Given the description of an element on the screen output the (x, y) to click on. 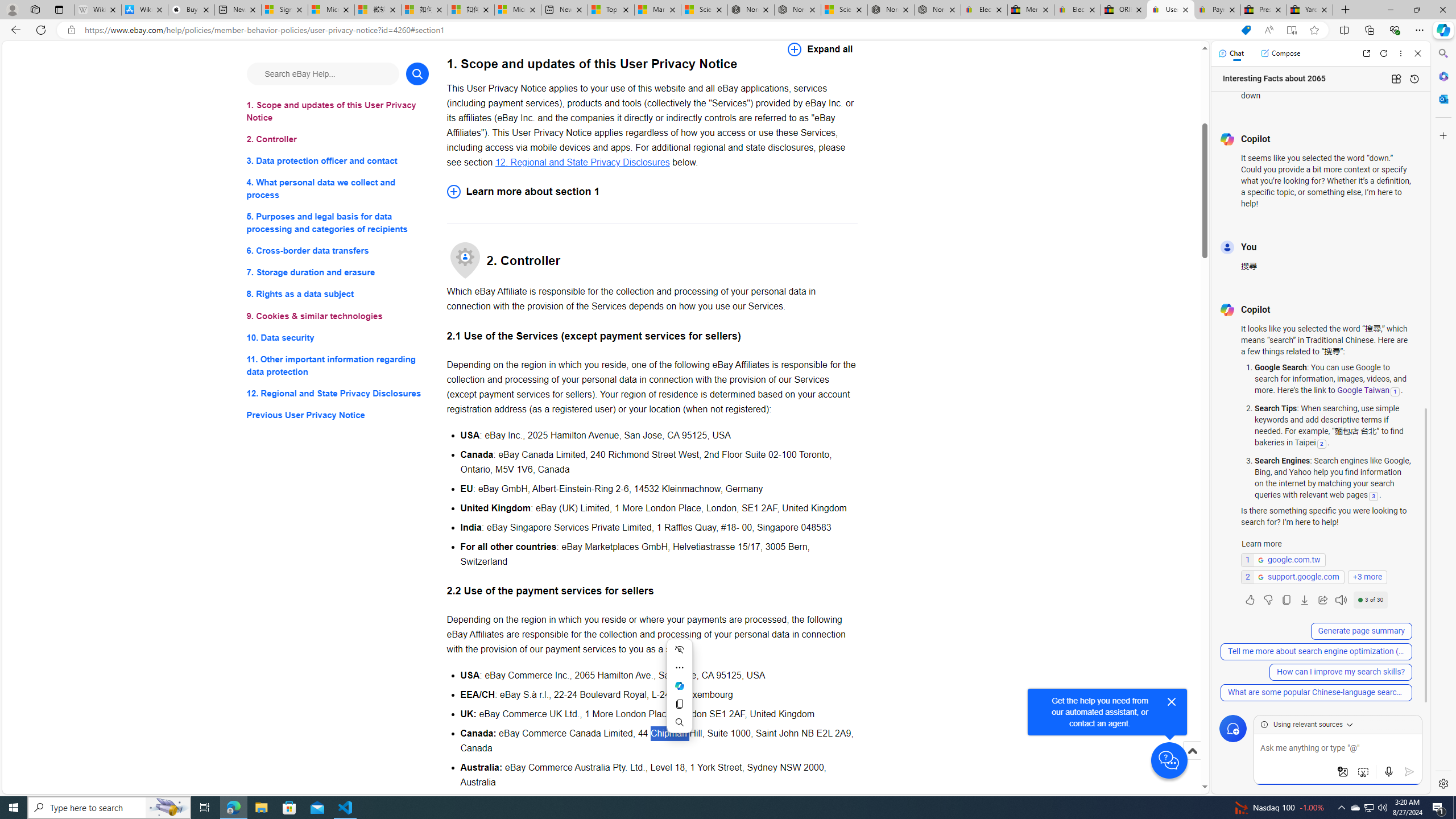
Electronics, Cars, Fashion, Collectibles & More | eBay (1077, 9)
Marine life - MSN (656, 9)
Yard, Garden & Outdoor Living (1309, 9)
Nordace - Summer Adventures 2024 (890, 9)
Open link in new tab (1366, 53)
11. Other important information regarding data protection (337, 365)
Hide menu (678, 649)
Microsoft Services Agreement (330, 9)
